Given the description of an element on the screen output the (x, y) to click on. 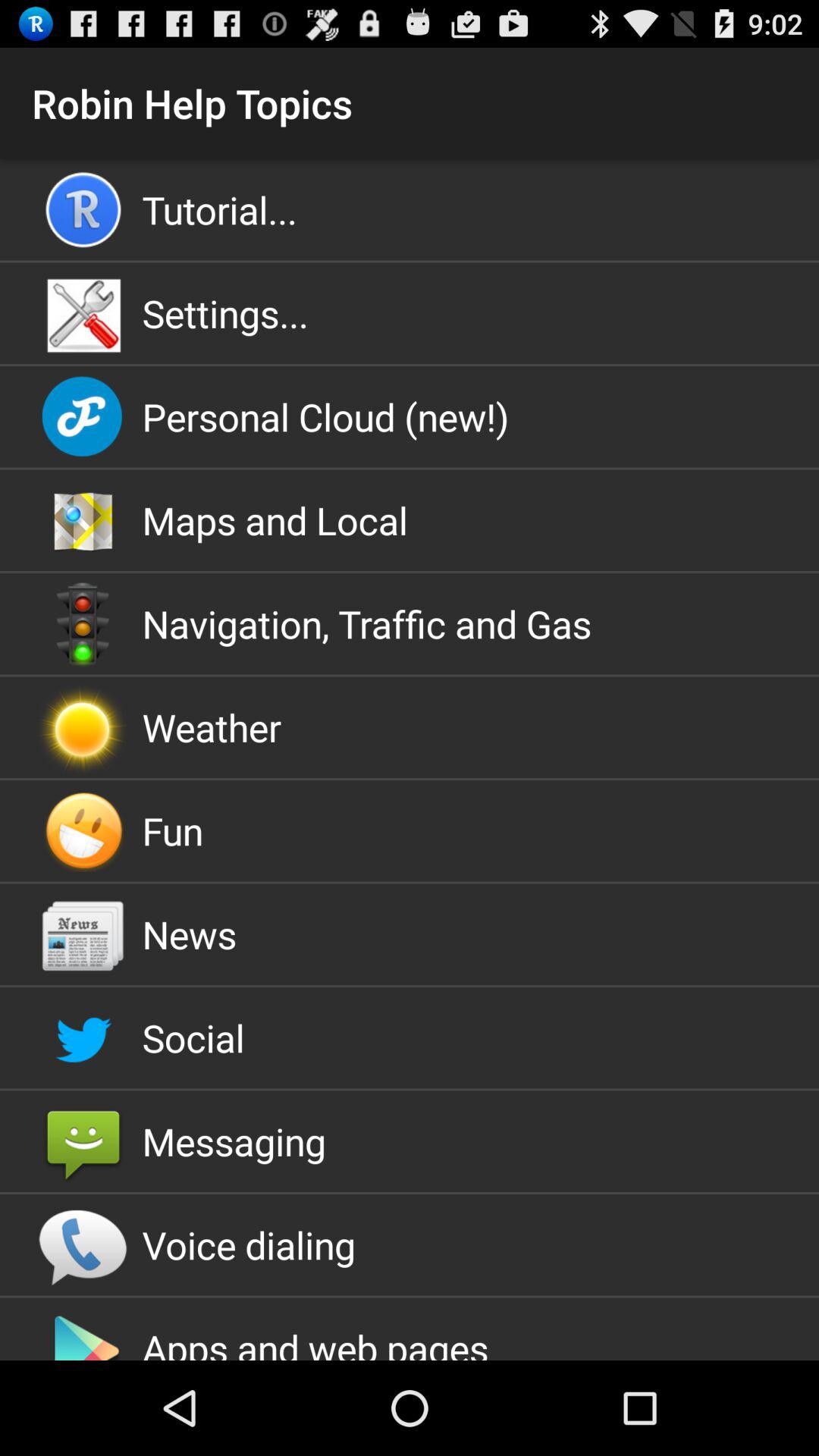
swipe to the  messaging icon (409, 1141)
